Given the description of an element on the screen output the (x, y) to click on. 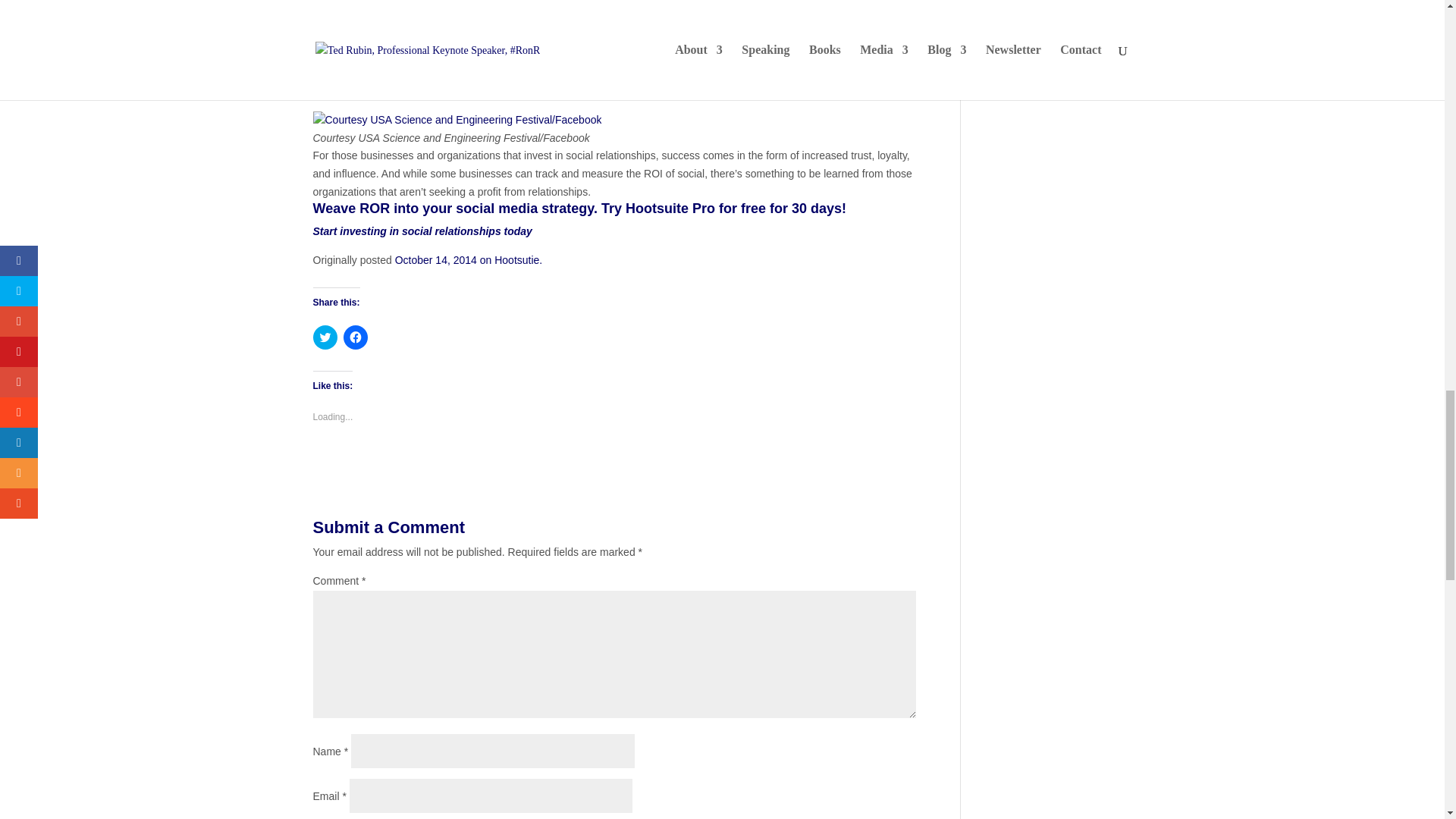
Click to share on Twitter (324, 337)
Hootsuite Pro (422, 231)
Click to share on Facebook (354, 337)
